Given the description of an element on the screen output the (x, y) to click on. 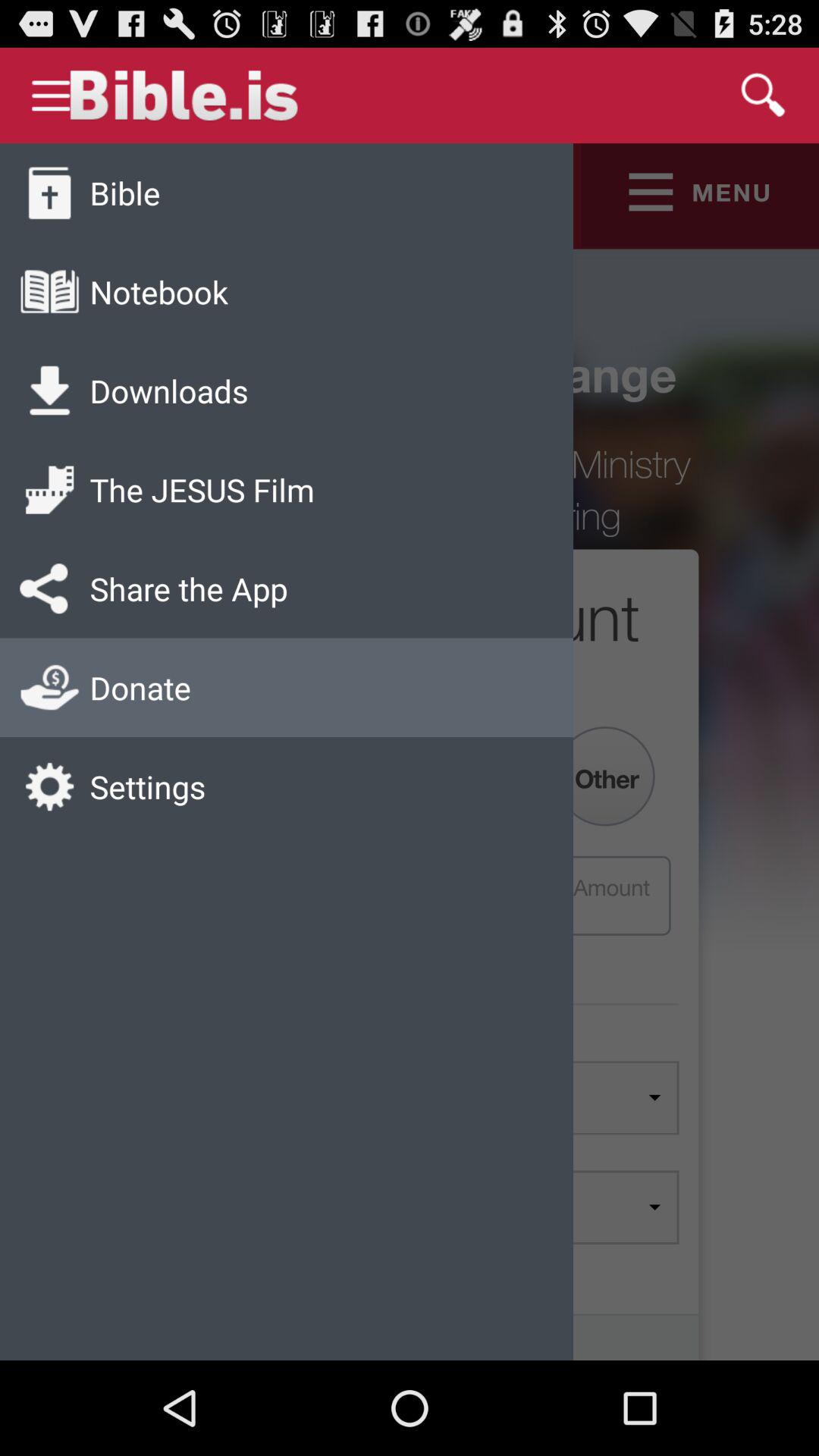
swipe to notebook item (158, 291)
